Given the description of an element on the screen output the (x, y) to click on. 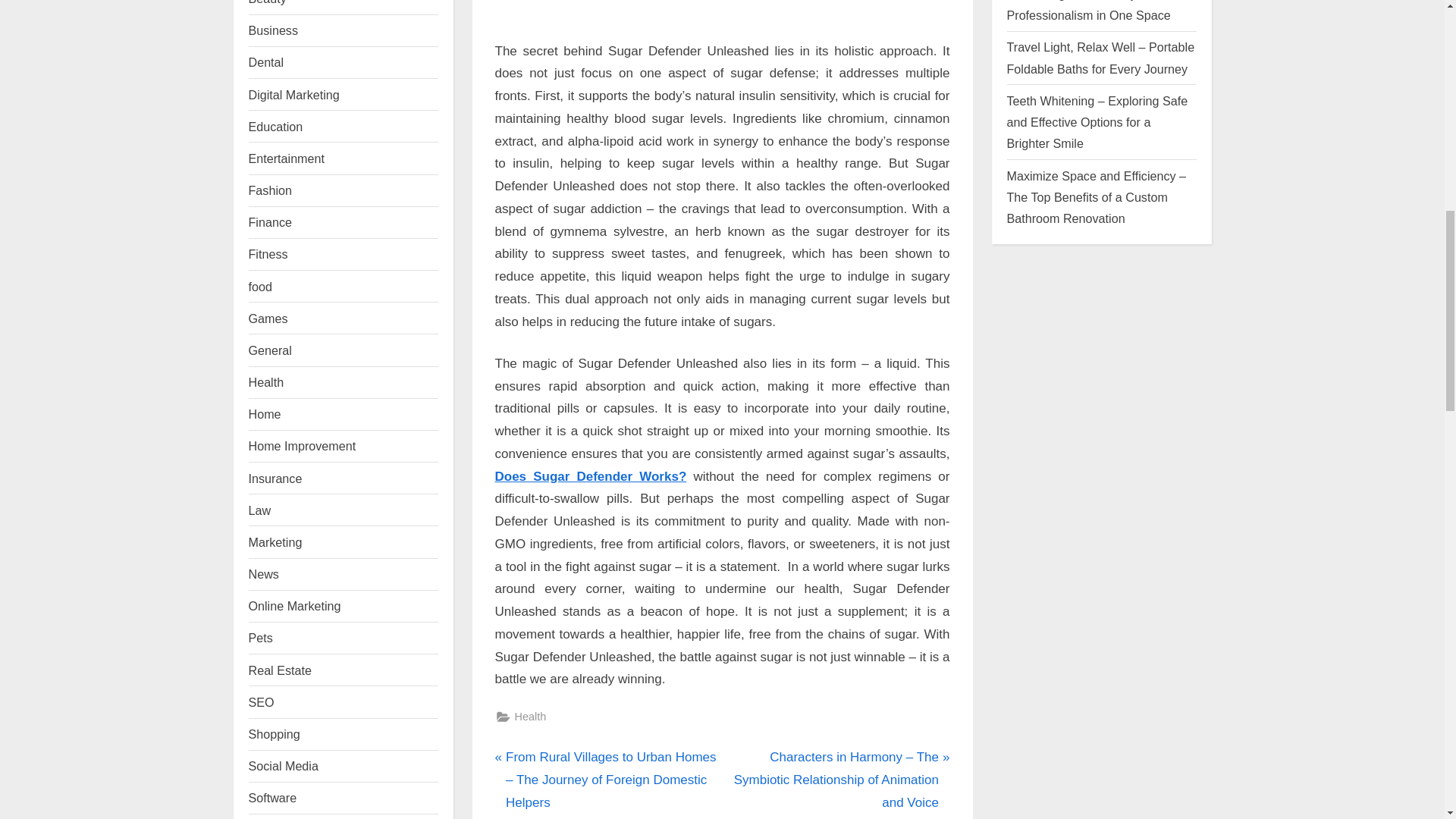
Home (264, 413)
food (260, 286)
Law (259, 509)
Education (275, 126)
Insurance (275, 478)
General (270, 350)
Beauty (267, 2)
Games (268, 318)
Dental (265, 61)
Entertainment (286, 158)
